Given the description of an element on the screen output the (x, y) to click on. 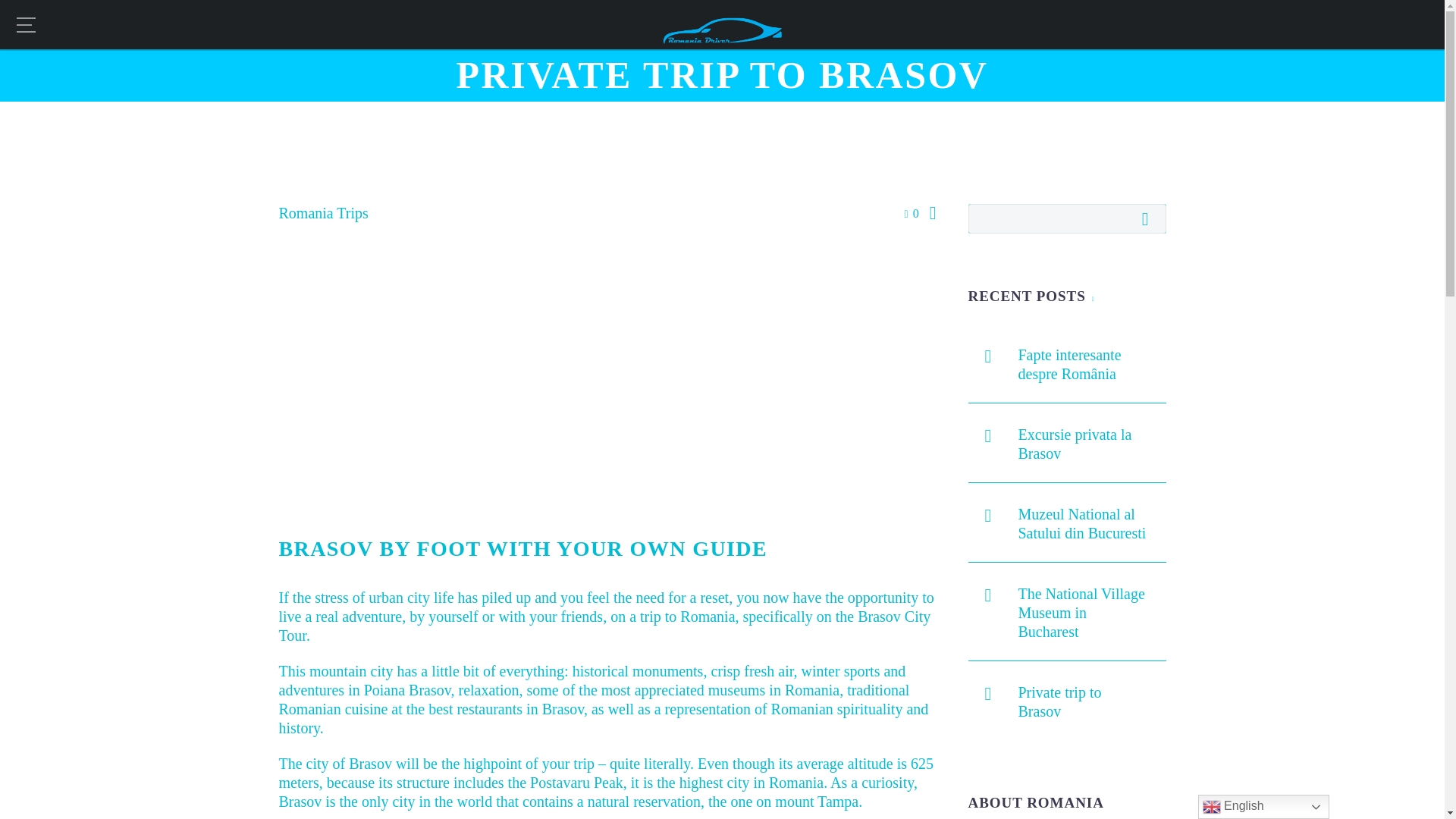
Muzeul National al Satului din Bucuresti (1091, 519)
SEARCH (1149, 217)
Private trip to Brasov (1091, 698)
0 (911, 213)
View all posts in Romania Trips (323, 212)
Romania Trips (323, 212)
The National Village Museum in Bucharest (1091, 609)
Excursie privata la Brasov (1091, 440)
